Given the description of an element on the screen output the (x, y) to click on. 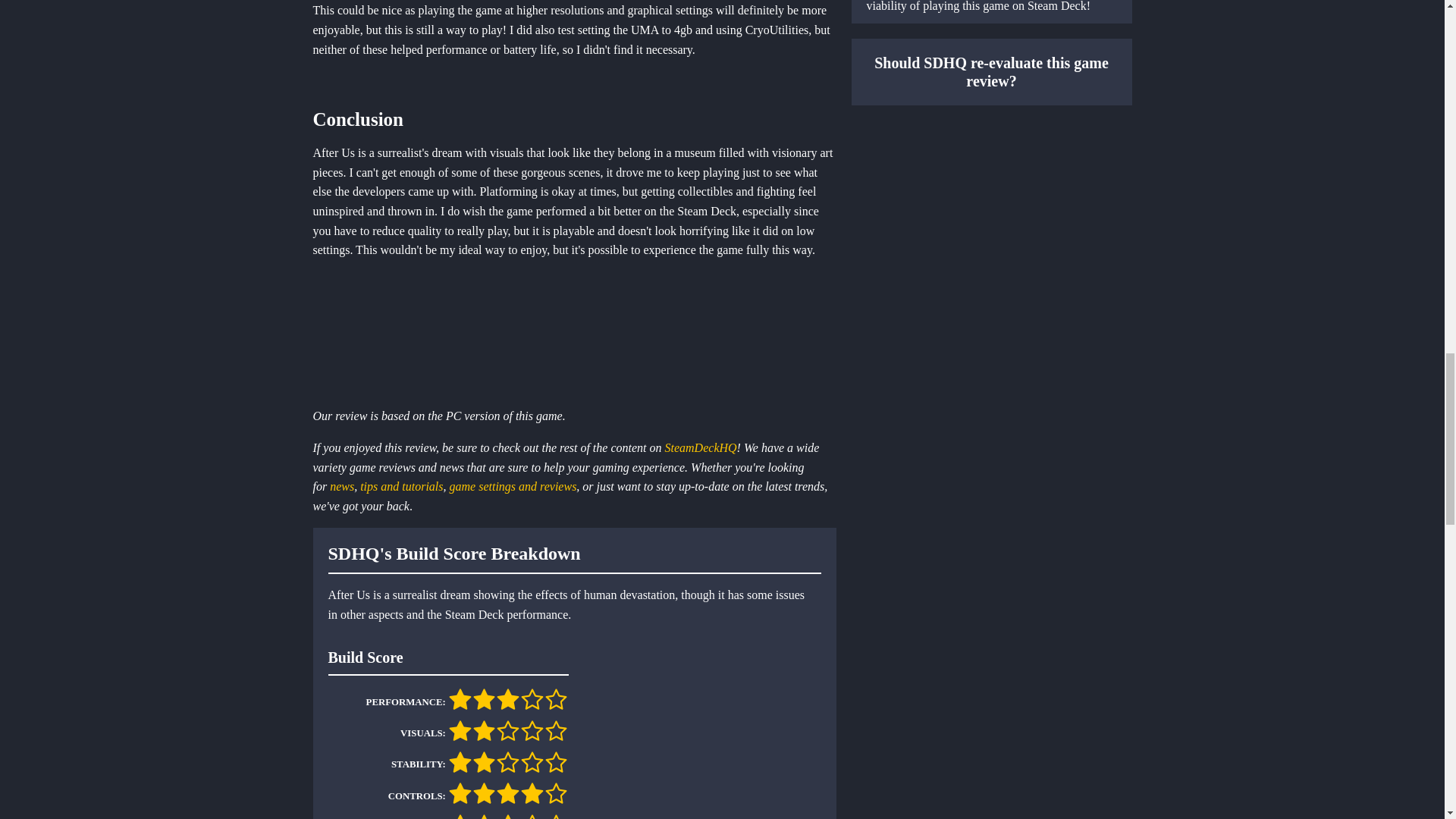
game settings and reviews (512, 486)
SteamDeckHQ (700, 447)
news (341, 486)
tips and tutorials (400, 486)
